Given the description of an element on the screen output the (x, y) to click on. 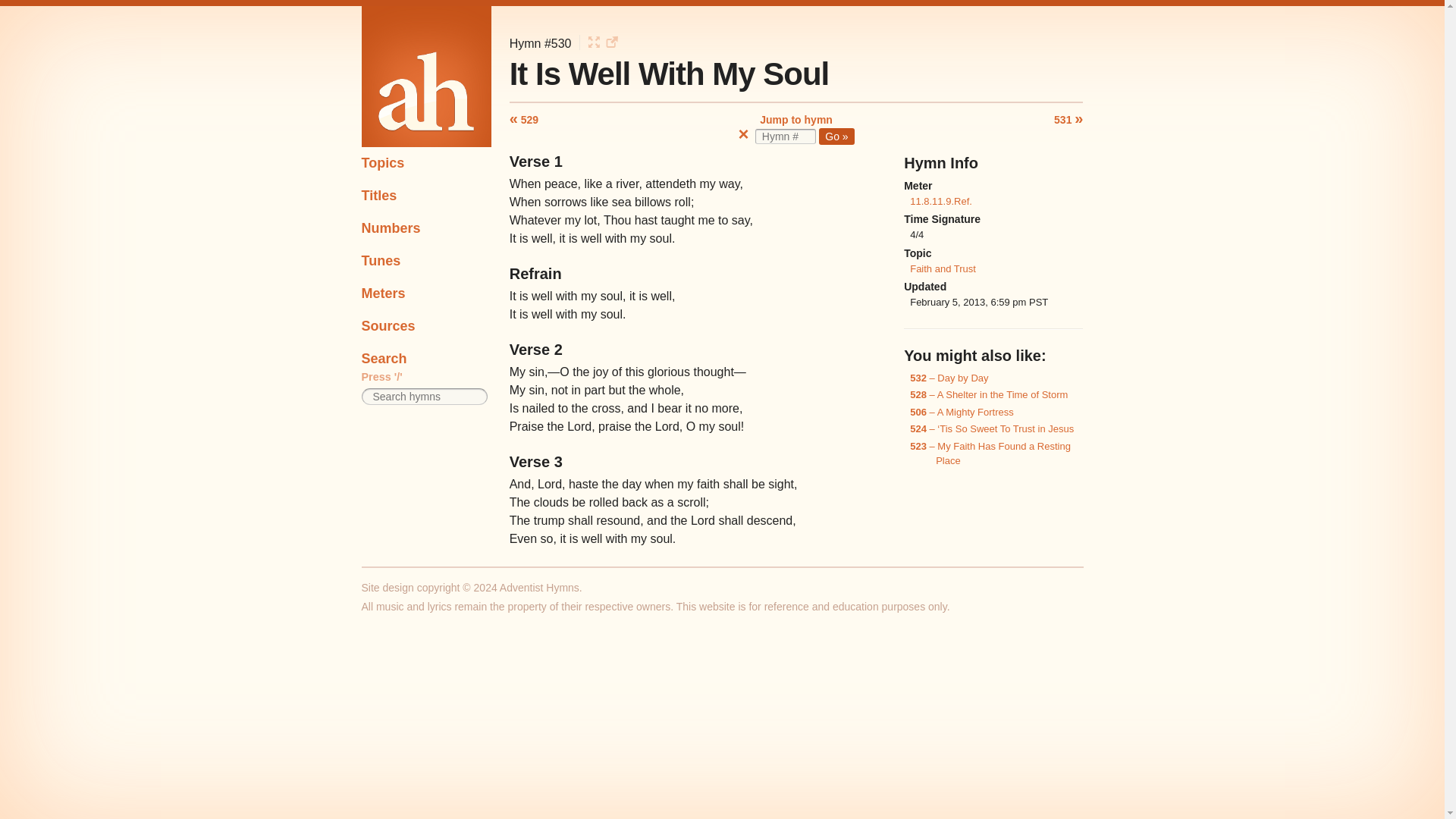
Numbers (425, 228)
Tunes (425, 260)
Meters (425, 293)
Search (425, 356)
Home (425, 76)
Topics (425, 163)
Sources (425, 326)
Titles (425, 195)
